Given the description of an element on the screen output the (x, y) to click on. 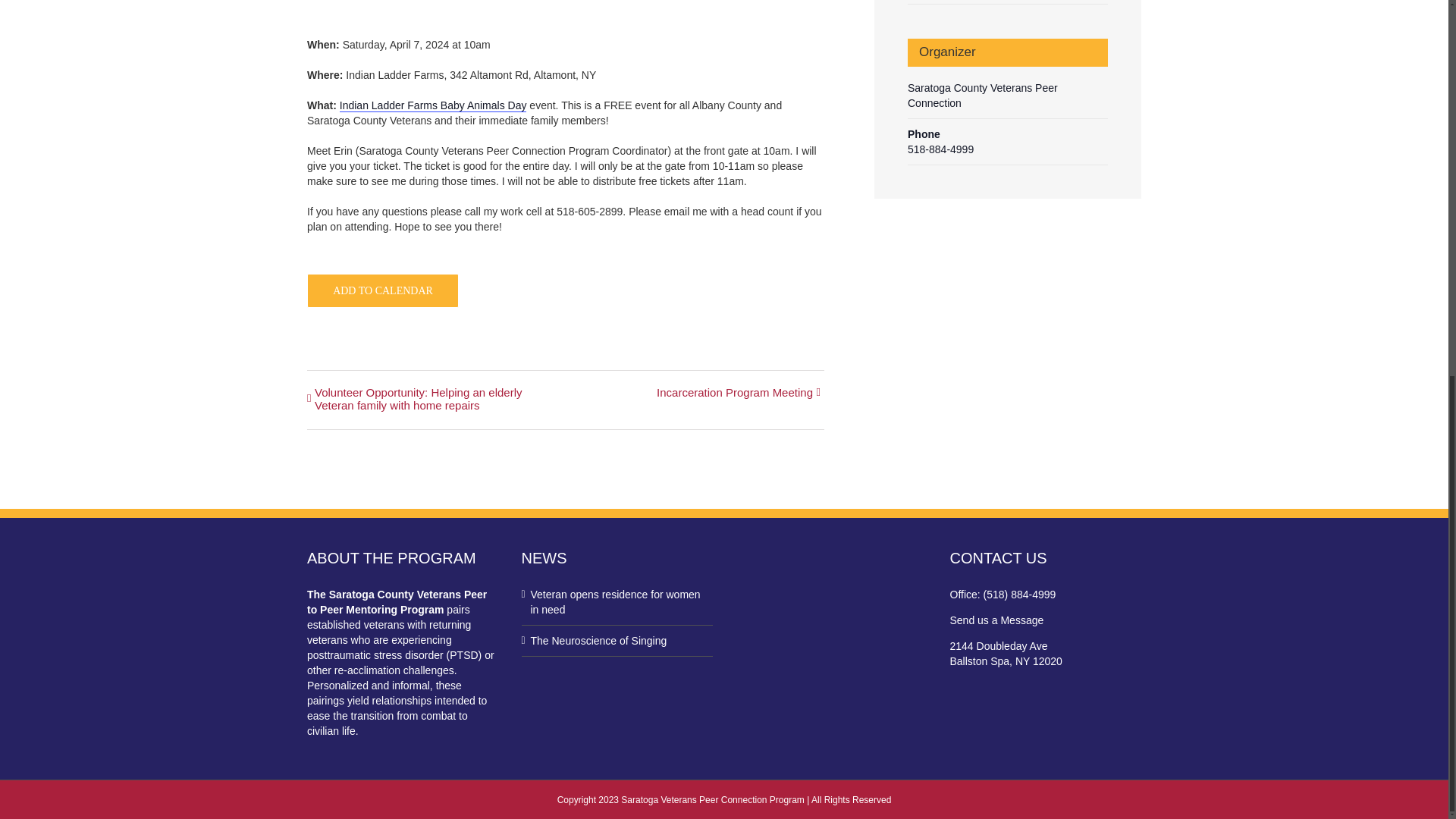
ADD TO CALENDAR (382, 290)
Indian Ladder Farms Baby Animals Day (433, 105)
